Given the description of an element on the screen output the (x, y) to click on. 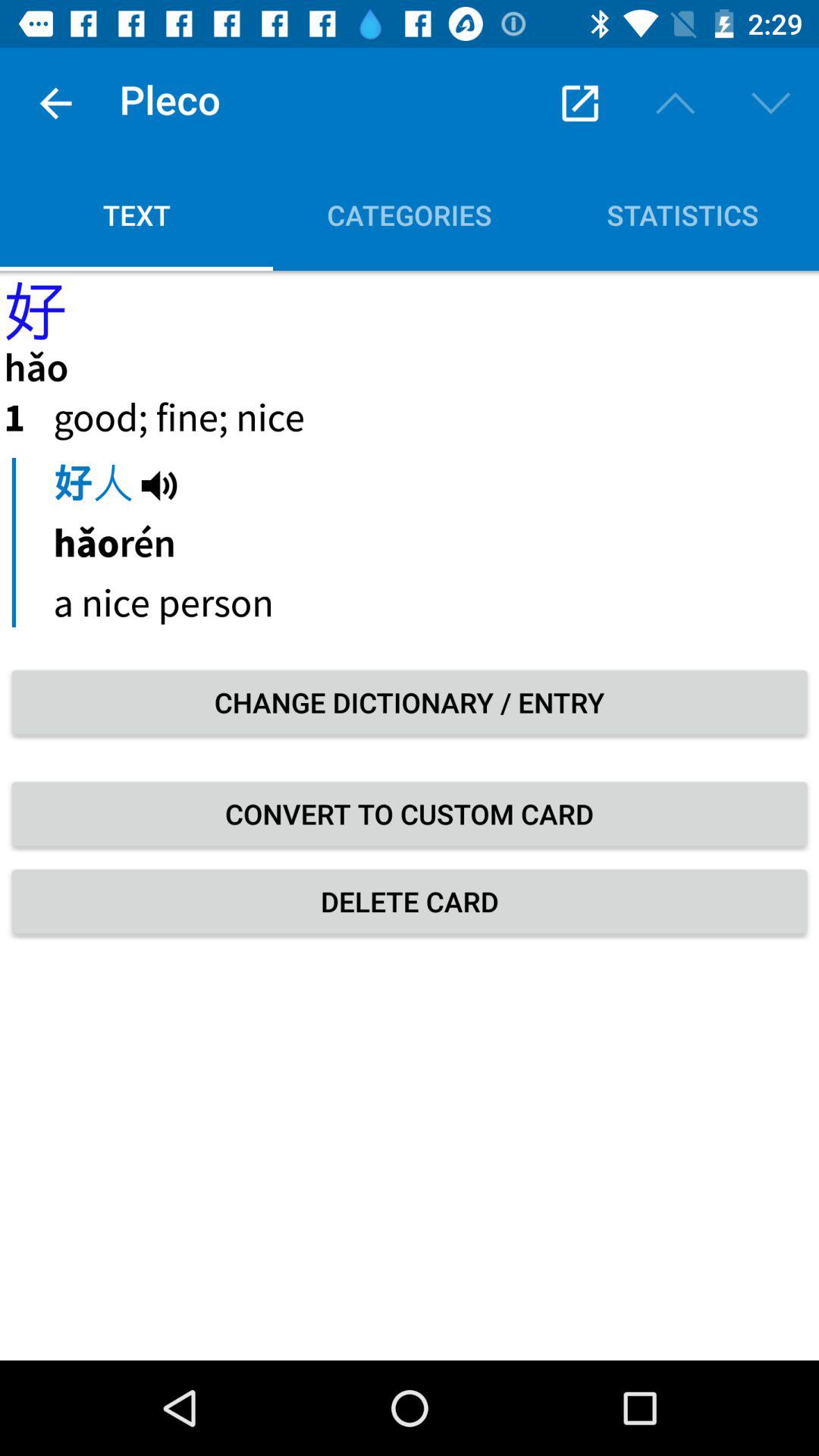
swipe until the convert to custom item (409, 813)
